Given the description of an element on the screen output the (x, y) to click on. 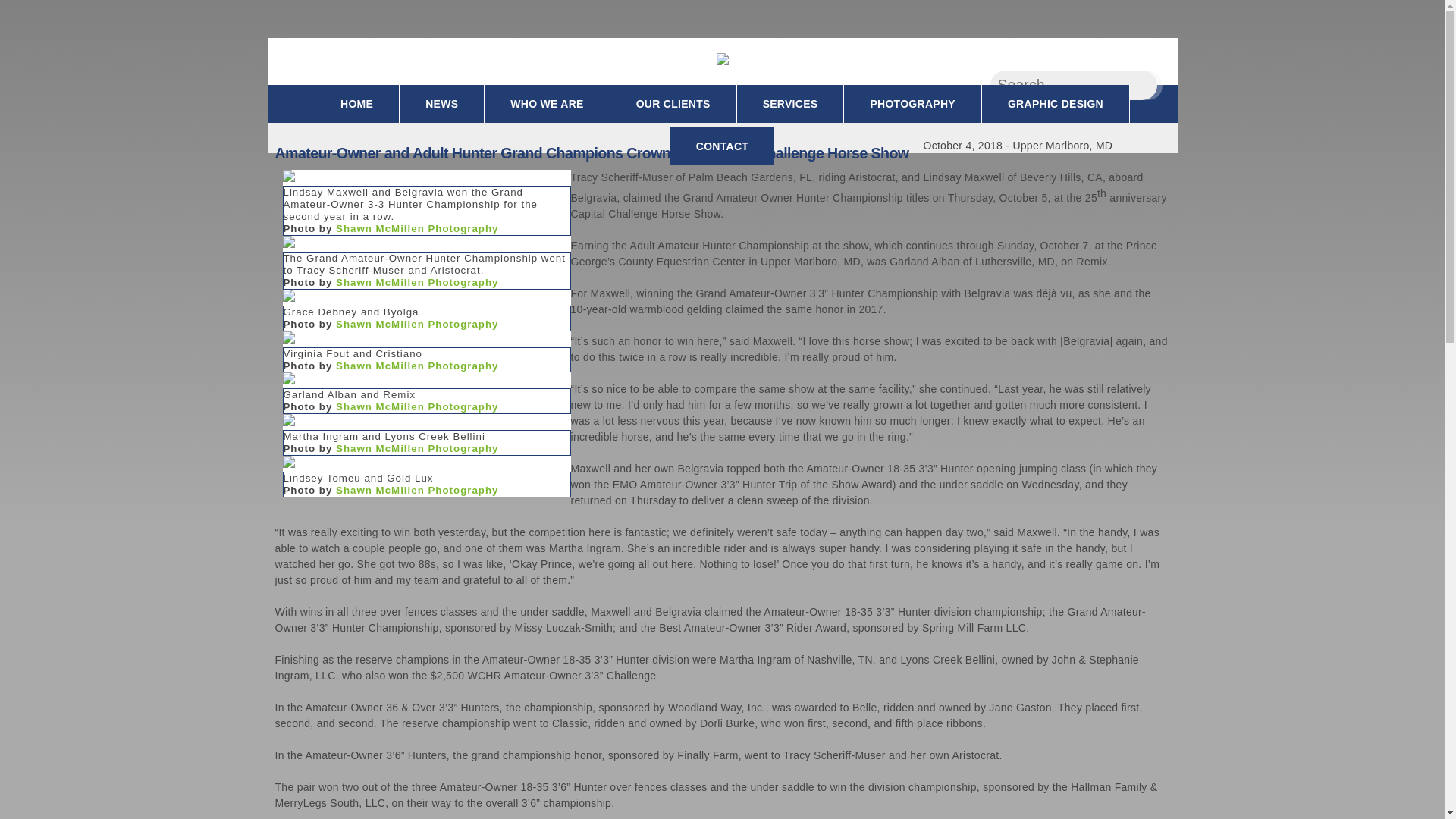
HOME (356, 103)
CONTACT (721, 146)
SERVICES (790, 103)
Shawn McMillen Photography (416, 324)
PHOTOGRAPHY (912, 103)
Shawn McMillen Photography (416, 365)
OUR CLIENTS (673, 103)
NEWS (440, 103)
Shawn McMillen Photography (416, 406)
